Given the description of an element on the screen output the (x, y) to click on. 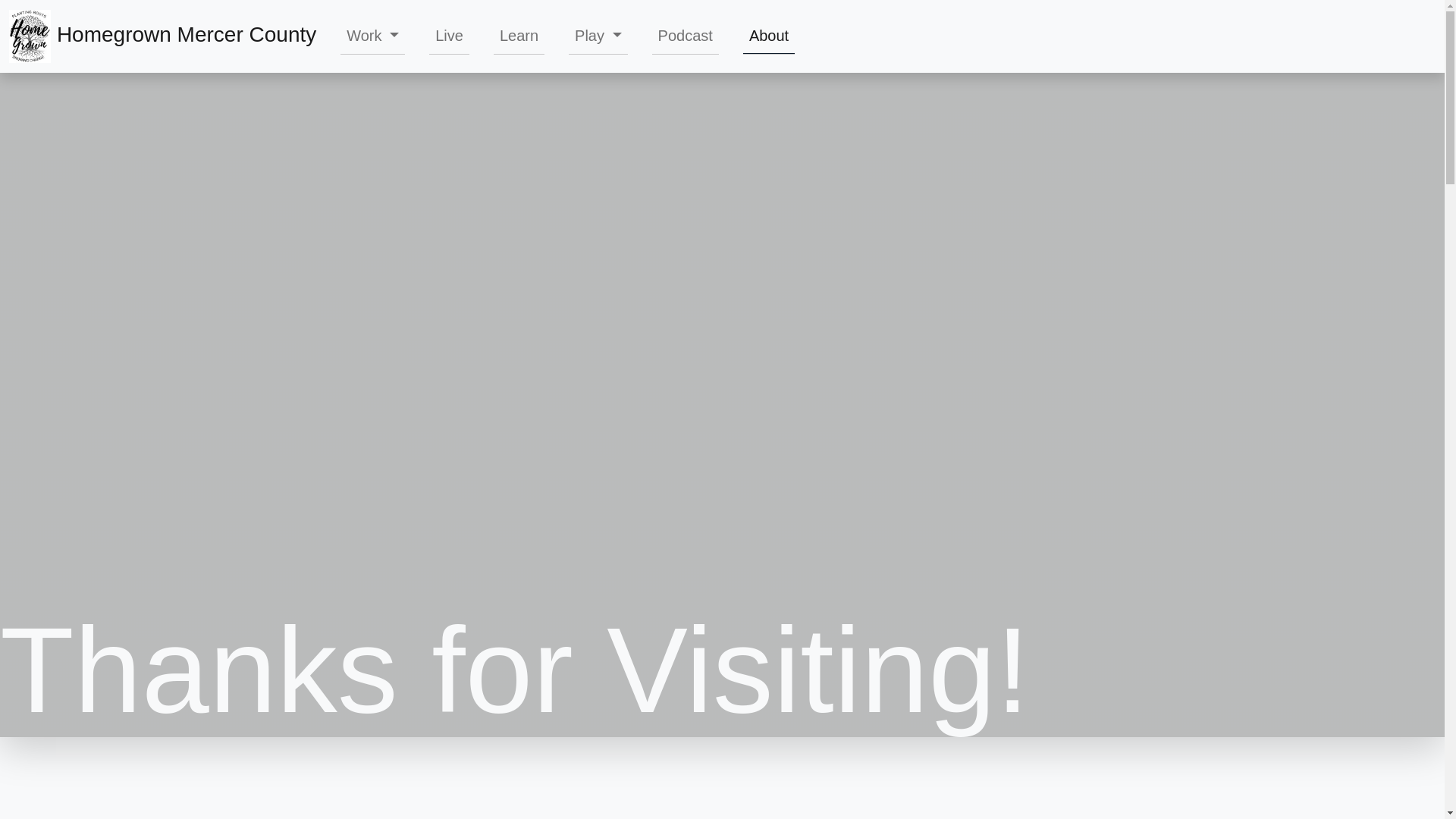
Play (598, 35)
Homegrown Mercer County (161, 35)
Podcast (685, 35)
About (768, 36)
Live (448, 35)
Work (372, 35)
Learn (518, 35)
